Given the description of an element on the screen output the (x, y) to click on. 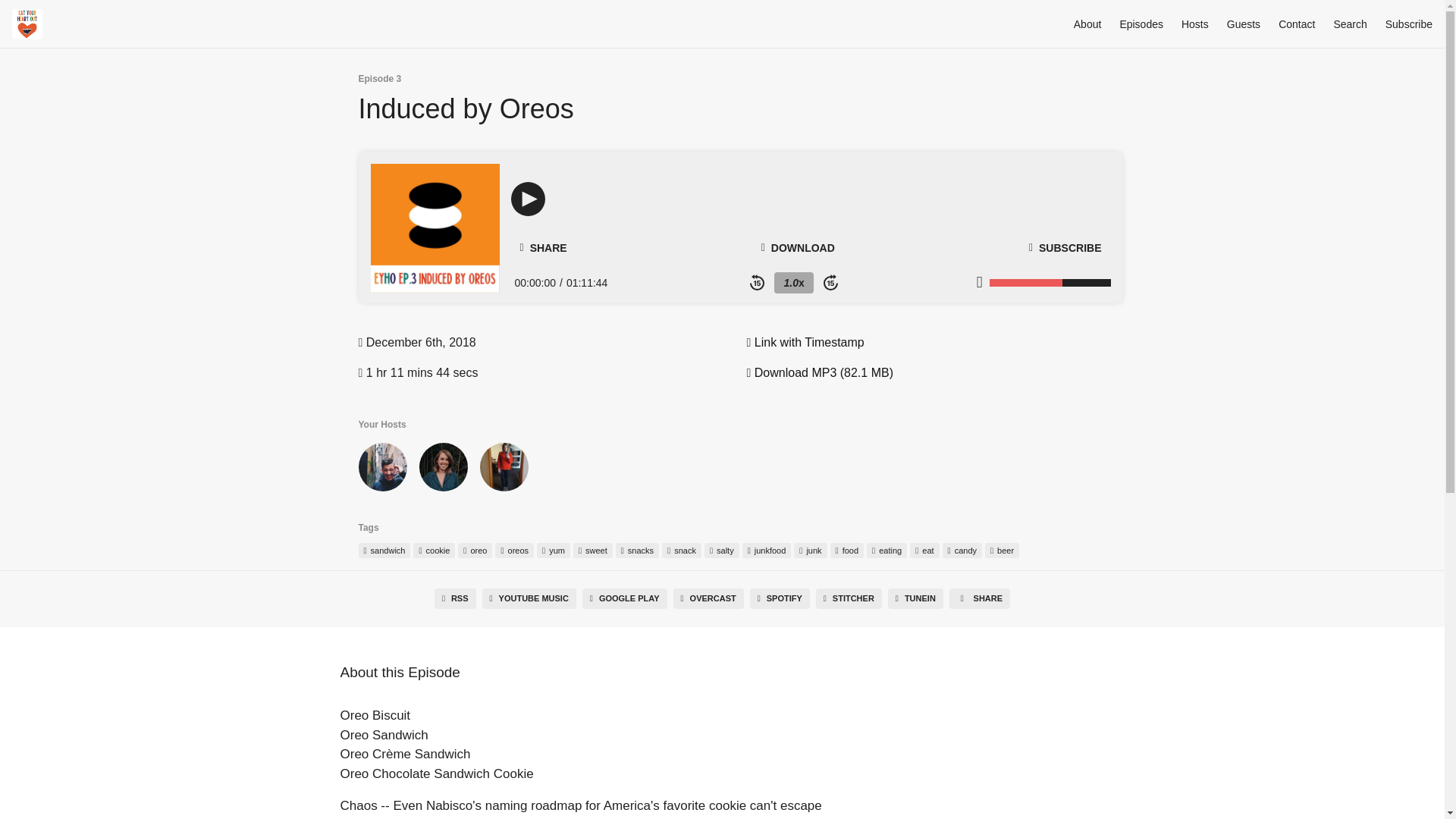
snacks (637, 549)
salty (721, 549)
DOWNLOAD (798, 247)
About (1088, 24)
SUBSCRIBE (1065, 247)
junkfood (767, 549)
sandwich (384, 549)
Episodes (1141, 24)
food (846, 549)
Link with Timestamp (804, 341)
